Given the description of an element on the screen output the (x, y) to click on. 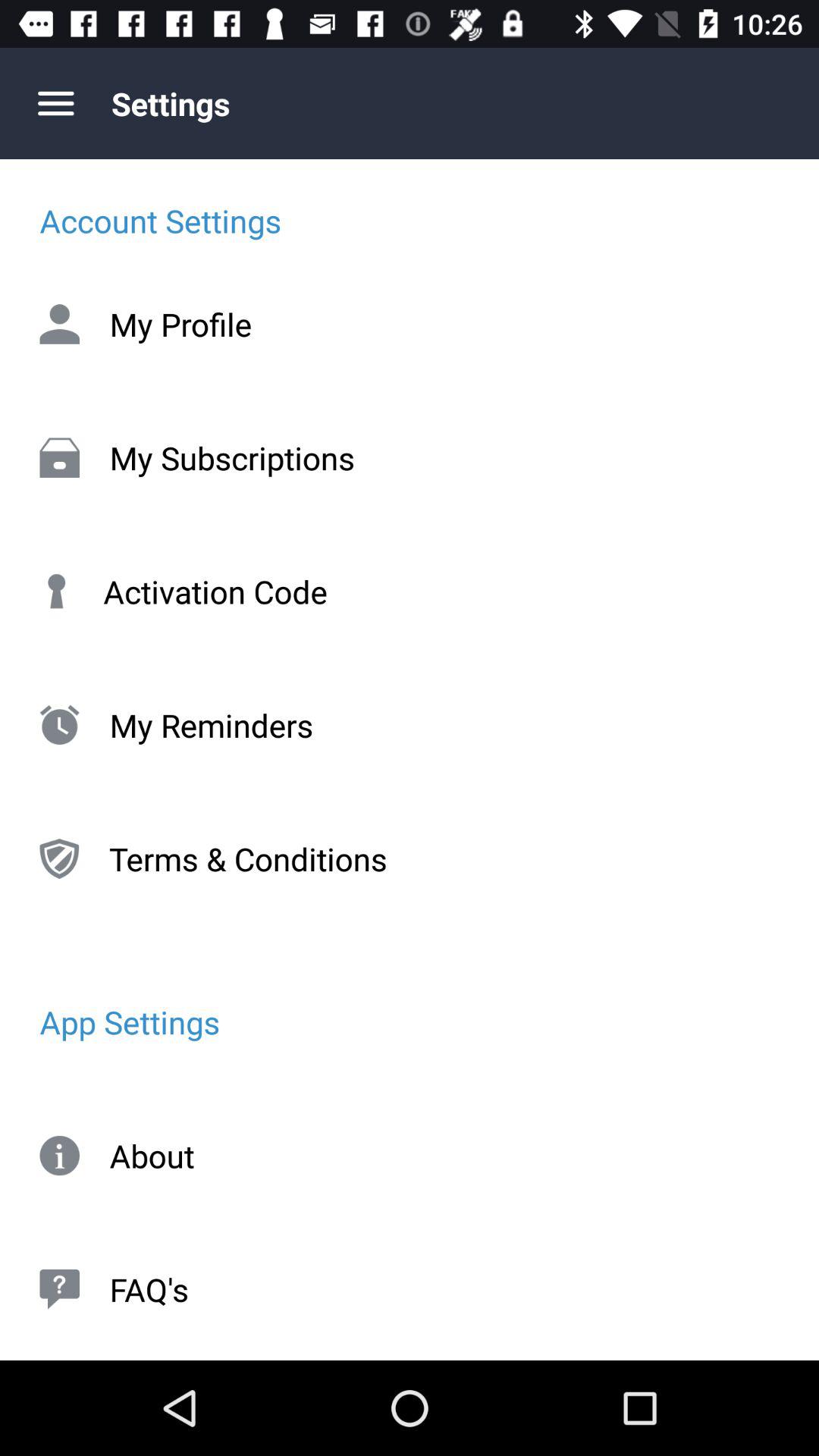
tap the icon above my reminders icon (409, 591)
